Given the description of an element on the screen output the (x, y) to click on. 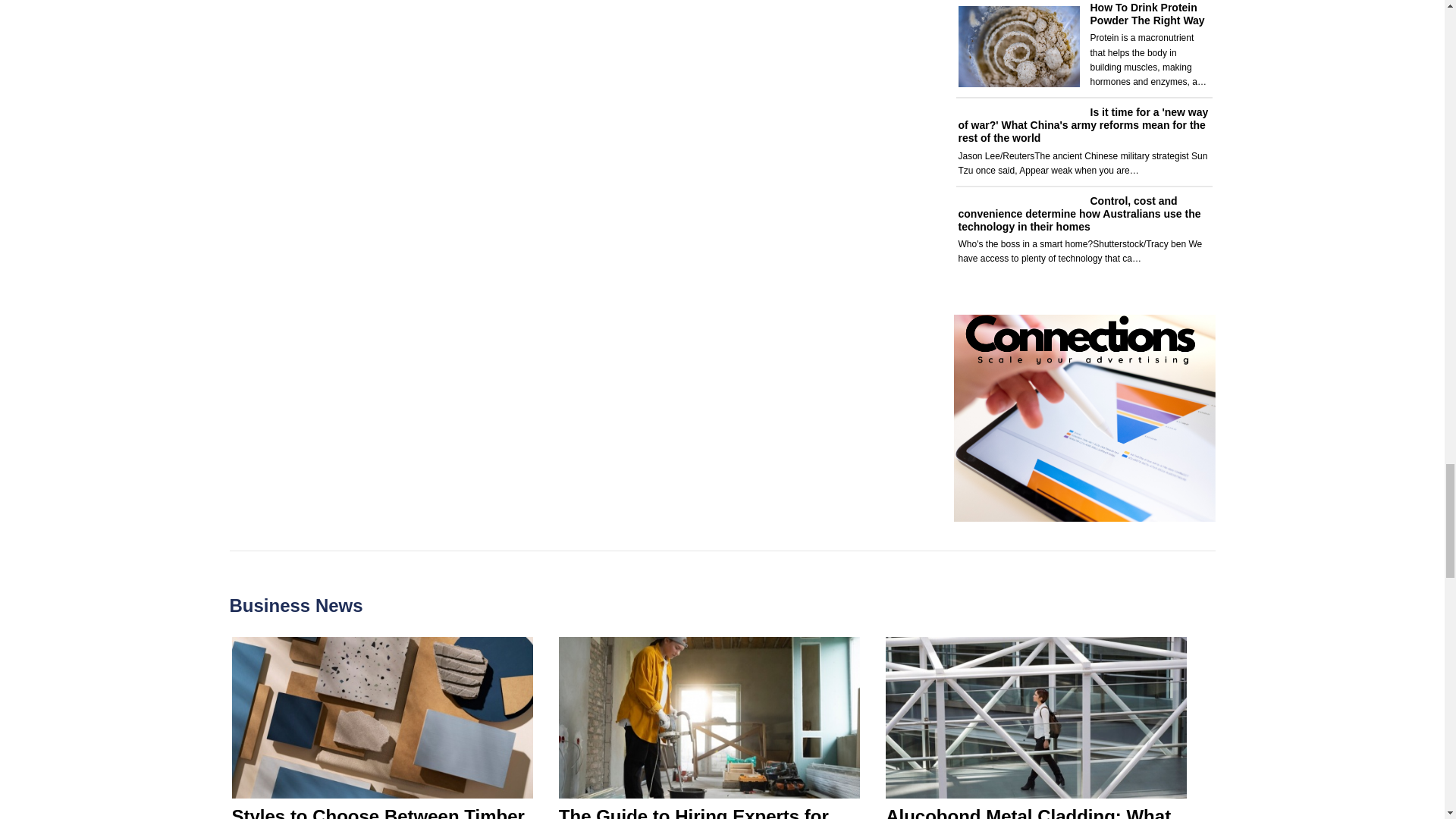
Styles to Choose Between Timber Flooring and Cladding (377, 812)
Alucobond Metal Cladding: What You Need to Know (1027, 812)
How To Drink Protein Powder The Right Way  (1147, 13)
